Given the description of an element on the screen output the (x, y) to click on. 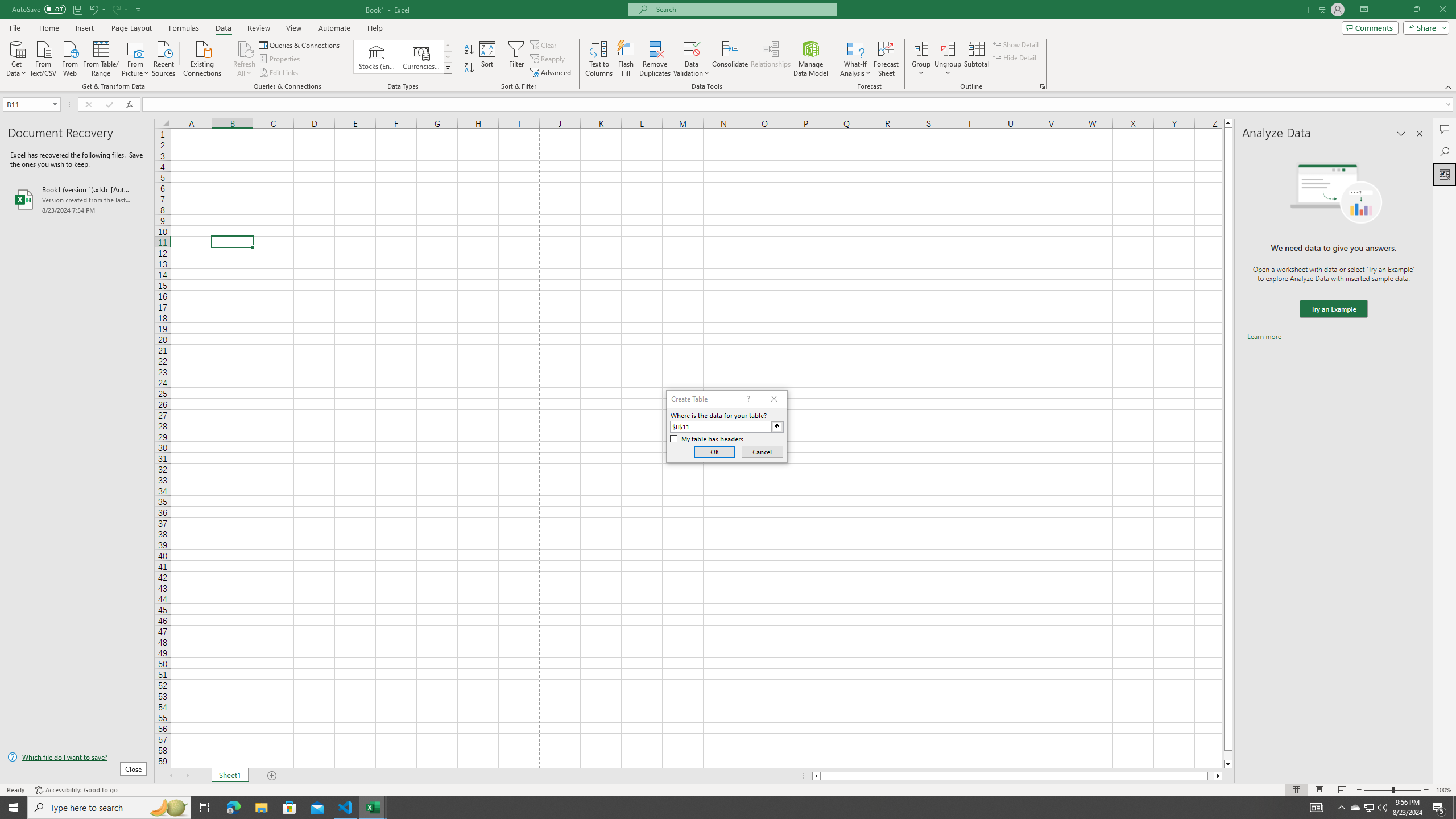
Ungroup... (947, 58)
Line up (1228, 122)
Normal (1296, 790)
Properties (280, 58)
Scroll Right (187, 775)
Filter (515, 58)
Page Break Preview (1342, 790)
Forecast Sheet (885, 58)
From Picture (135, 57)
From Table/Range (100, 57)
Formula Bar (799, 104)
Queries & Connections (300, 44)
Data Validation... (691, 58)
Currencies (English) (420, 56)
Column right (1218, 775)
